Given the description of an element on the screen output the (x, y) to click on. 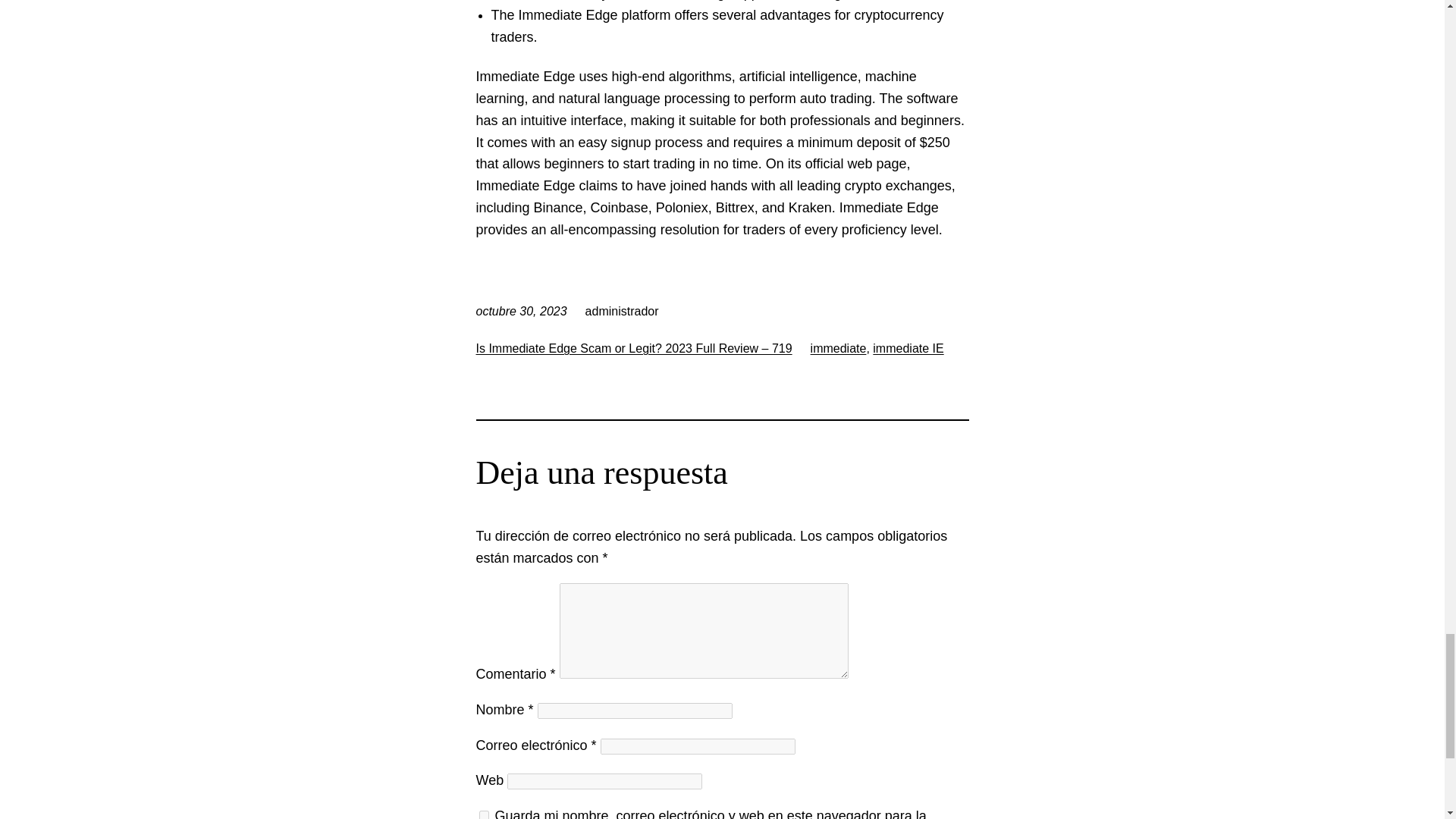
yes (484, 814)
immediate (838, 348)
immediate IE (907, 348)
